Given the description of an element on the screen output the (x, y) to click on. 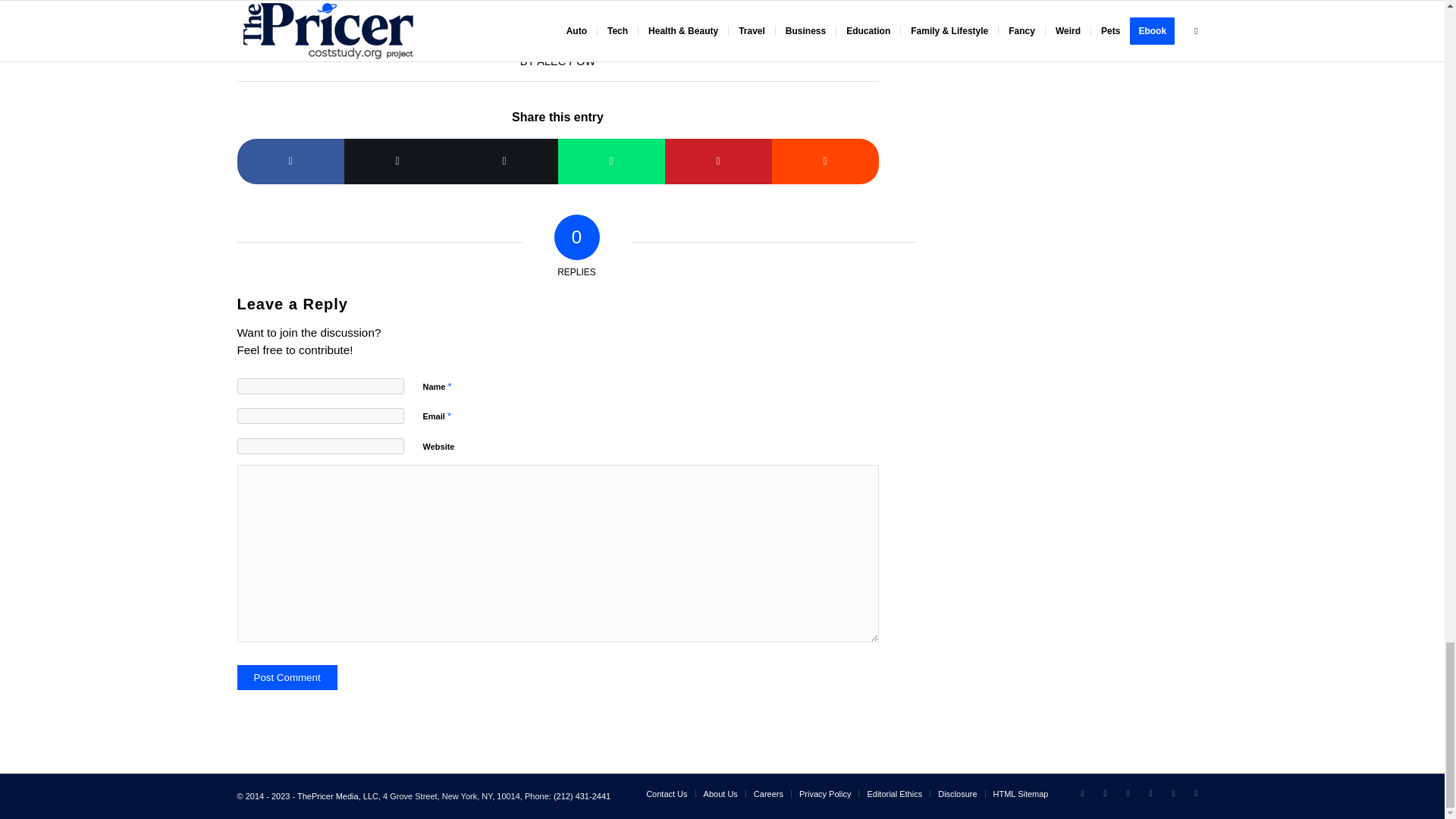
LinkedIn (1104, 793)
Instagram (1149, 793)
Facebook (1127, 793)
Post Comment (285, 677)
Twitter (1081, 793)
Posts by Alec Pow (566, 61)
Pinterest (1173, 793)
Youtube (1196, 793)
